Given the description of an element on the screen output the (x, y) to click on. 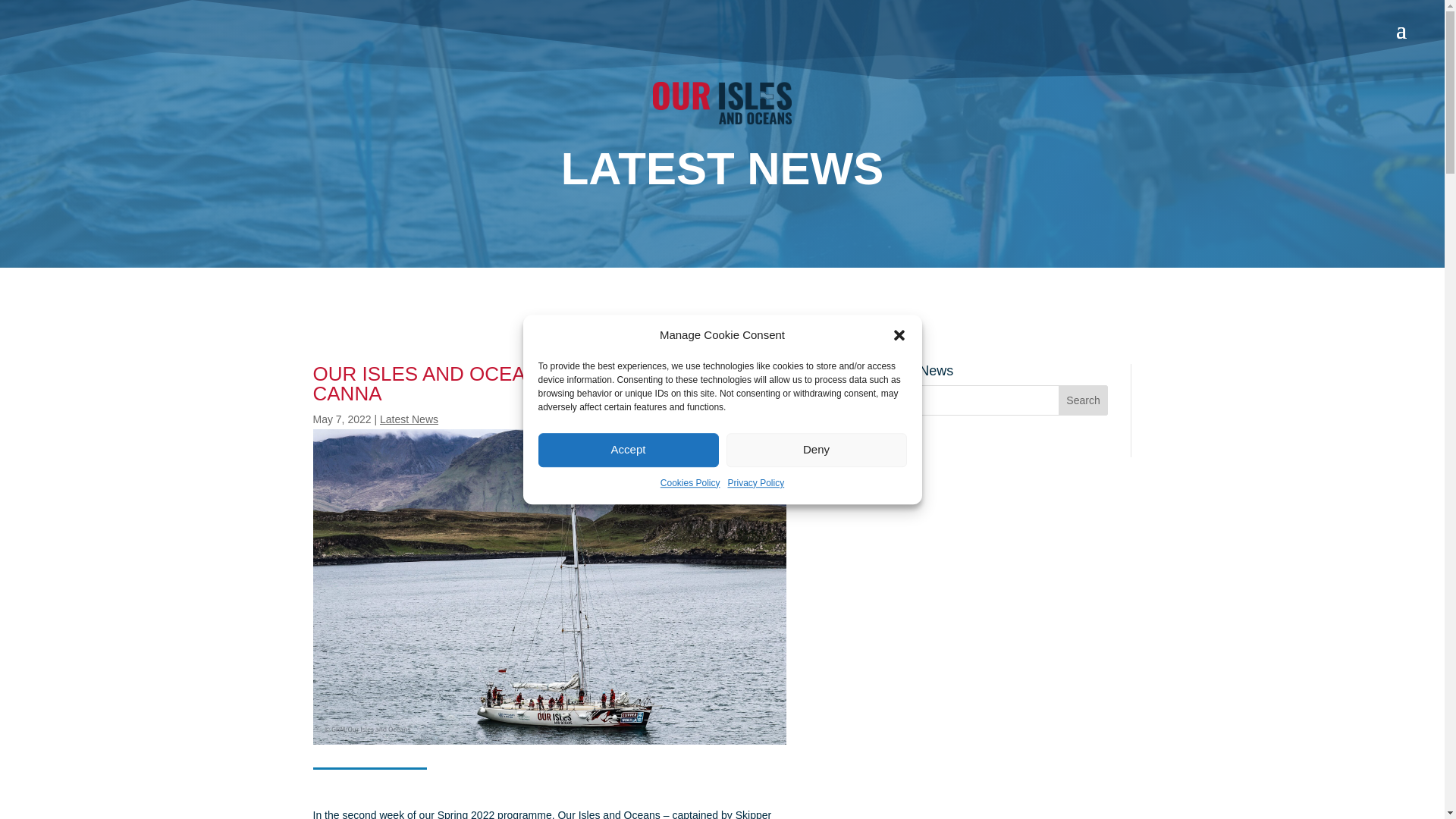
Cookies Policy (690, 484)
Deny (816, 449)
Search (1083, 399)
Accept (628, 449)
Search (1083, 399)
Latest News (409, 419)
Privacy Policy (756, 484)
